Given the description of an element on the screen output the (x, y) to click on. 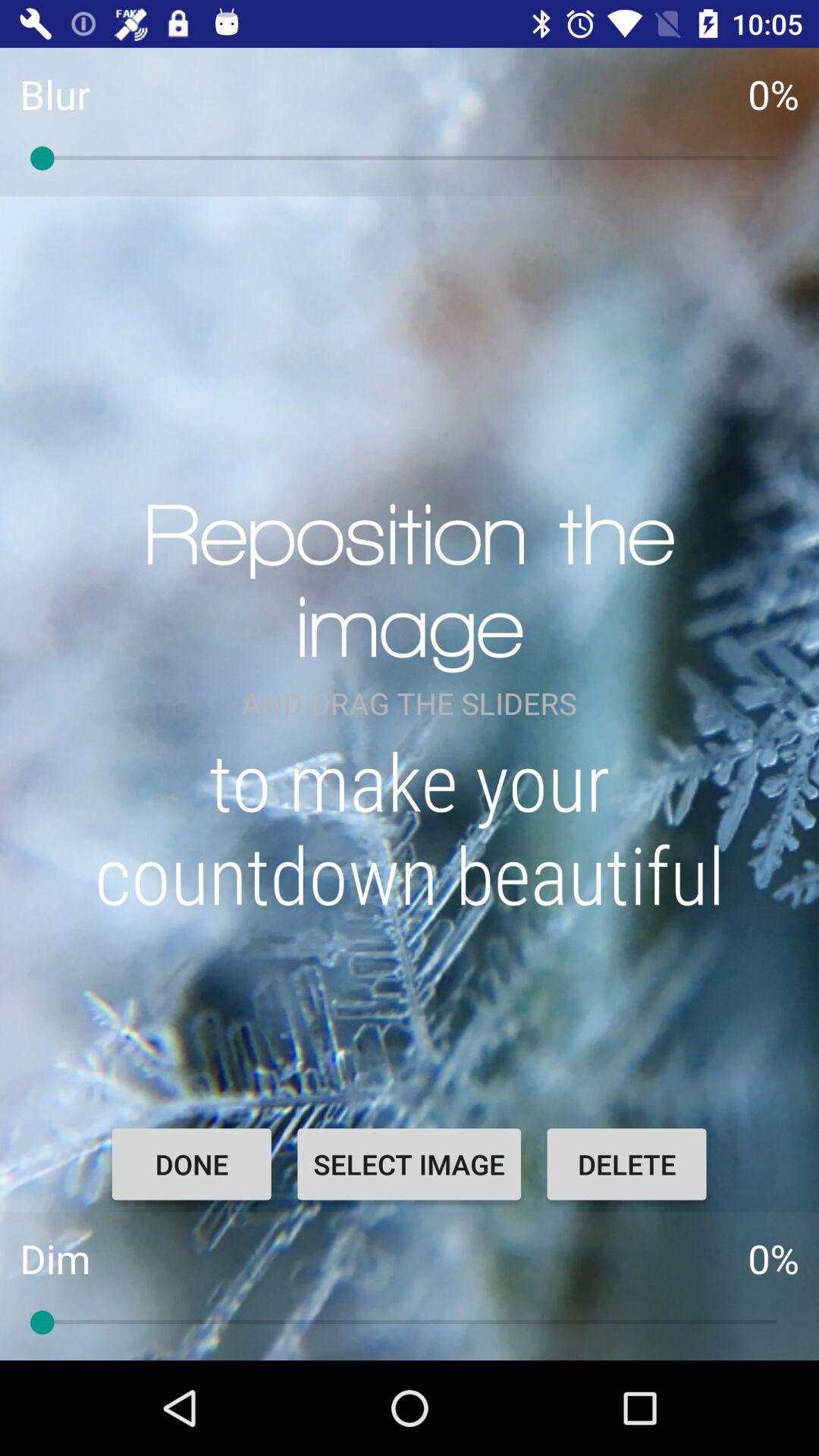
turn off the item below to make your icon (626, 1164)
